Given the description of an element on the screen output the (x, y) to click on. 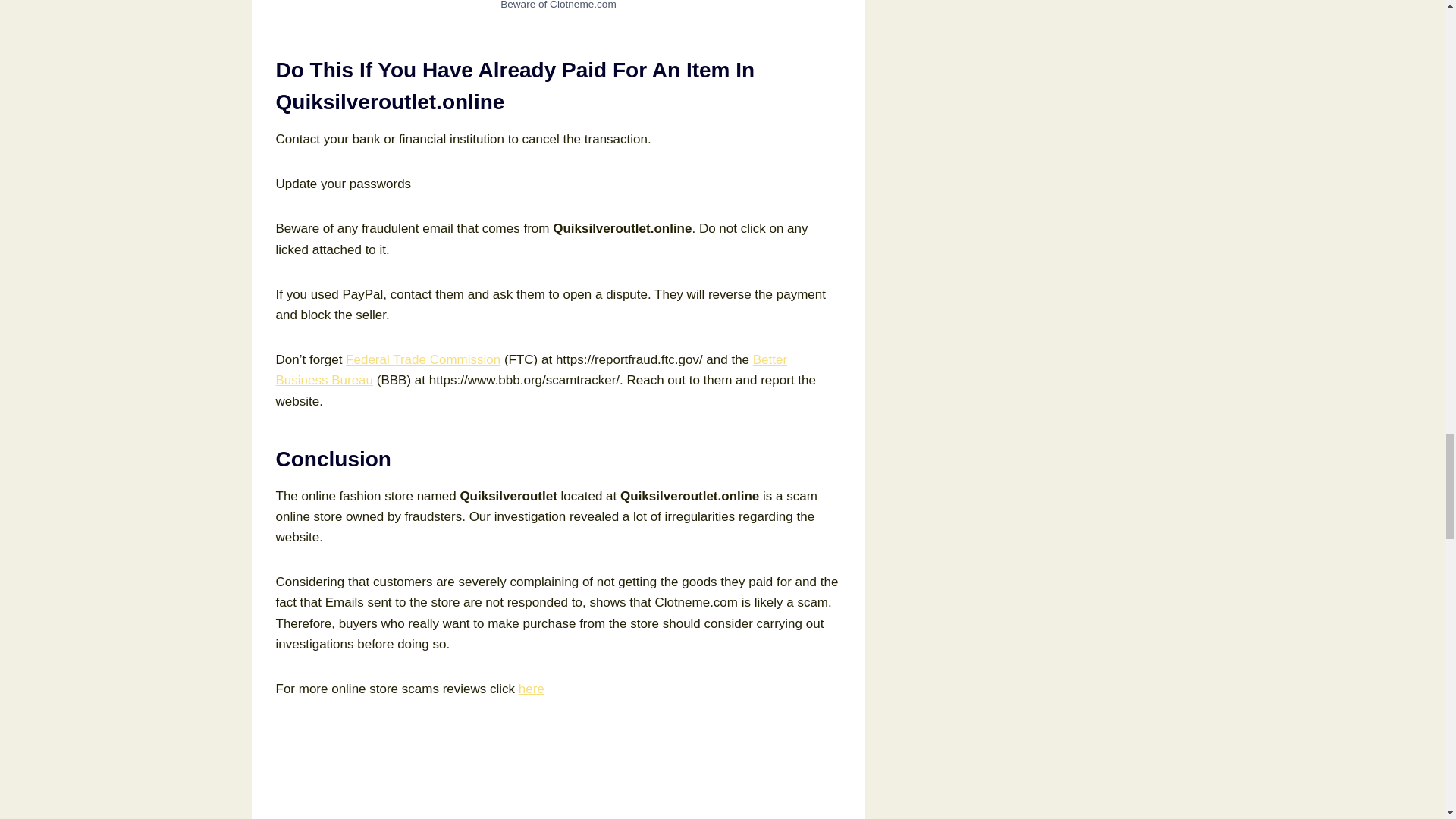
Federal Trade Commission (423, 359)
here (531, 688)
Better Business Bureau (531, 369)
